Given the description of an element on the screen output the (x, y) to click on. 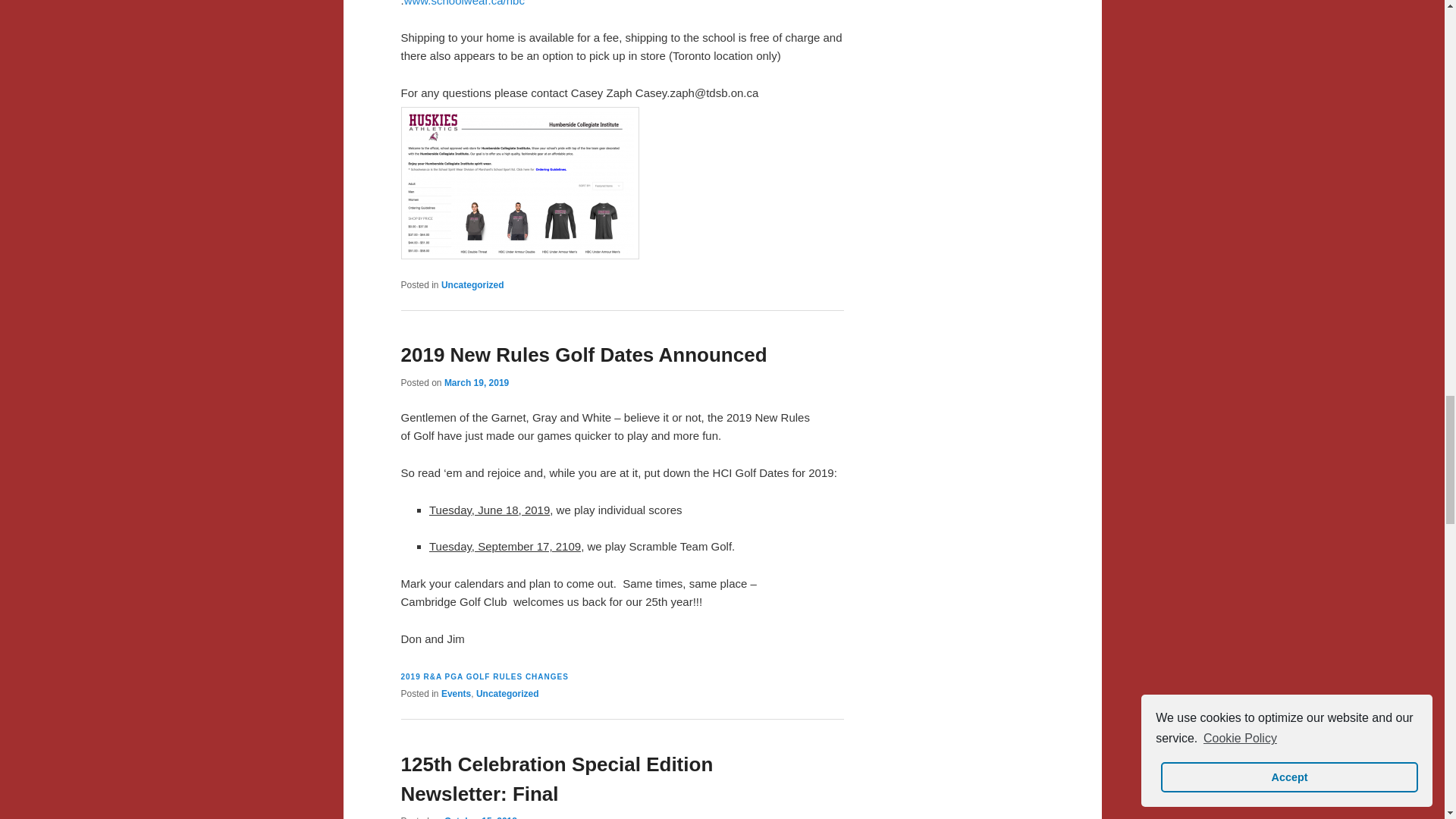
9:57 pm (476, 382)
9:43 pm (480, 817)
